Given the description of an element on the screen output the (x, y) to click on. 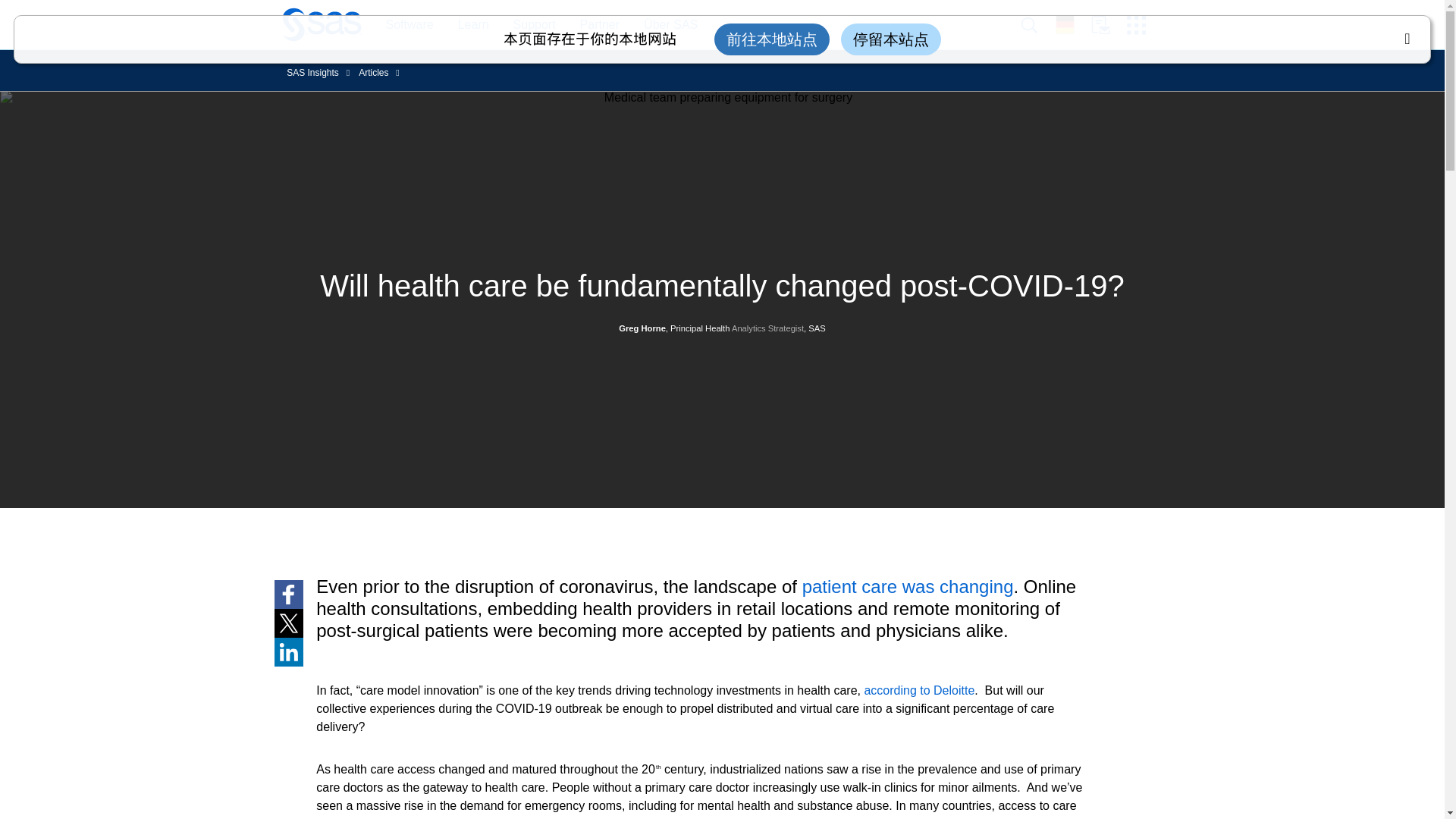
Support (526, 24)
LinkedIn (288, 652)
LinkedIn (288, 652)
Support (534, 24)
Twitter (288, 623)
Facebook (288, 594)
Software (401, 24)
Suche (1037, 25)
Partner (599, 24)
Kontakt (1108, 25)
SAS Sites (1141, 25)
Learn (465, 24)
Standorte weltweit (1072, 24)
Partner (592, 24)
Software (409, 24)
